Given the description of an element on the screen output the (x, y) to click on. 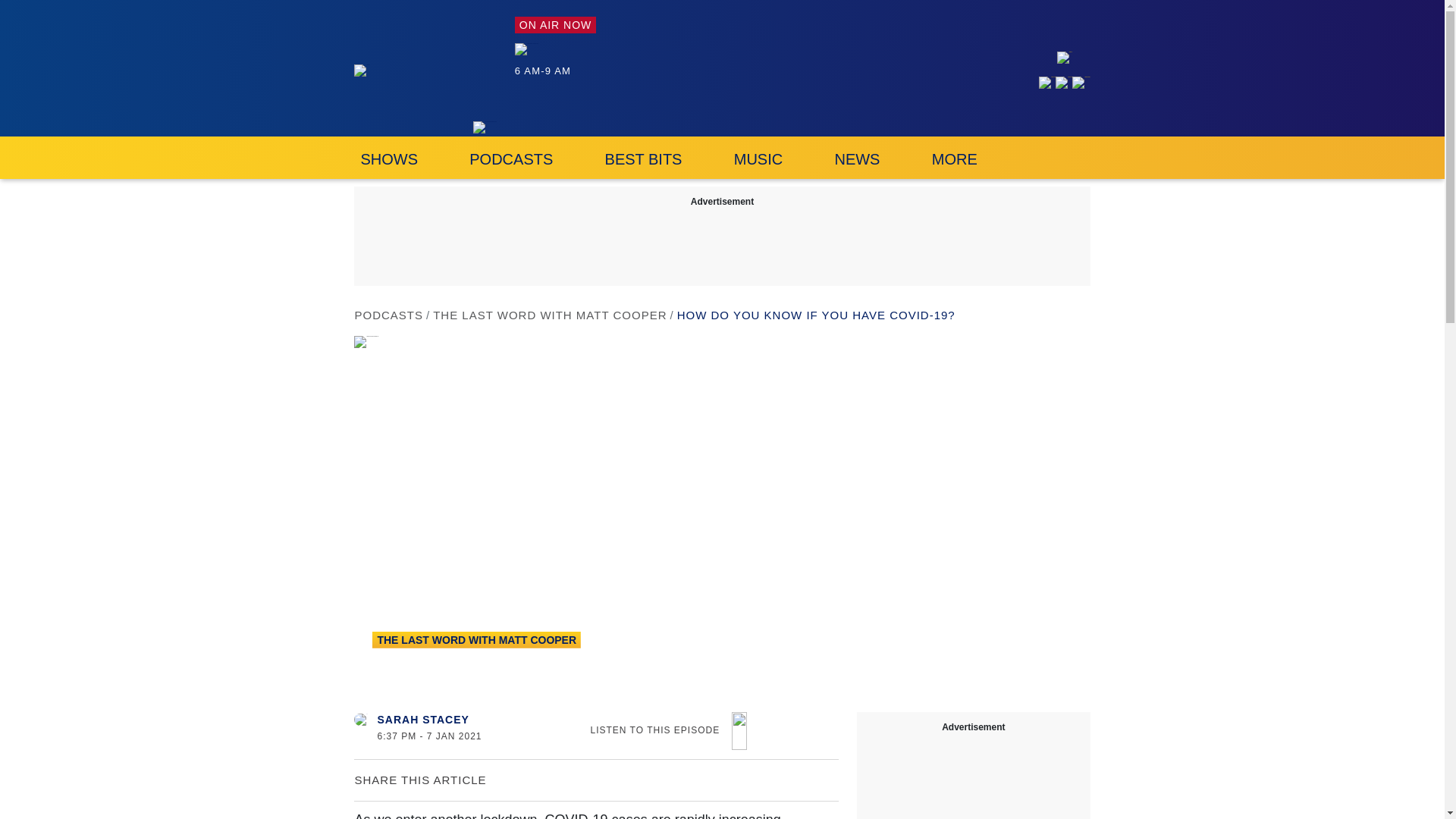
SHOWS (388, 157)
Best Bits (643, 157)
SARAH STACEY (422, 719)
MORE (964, 158)
THE LAST WORD WITH MATT COOPER (476, 639)
MUSIC (758, 157)
NEWS (856, 157)
PODCASTS (388, 314)
THE LAST WORD WITH MATT COOPER (549, 314)
Podcasts (511, 157)
